Given the description of an element on the screen output the (x, y) to click on. 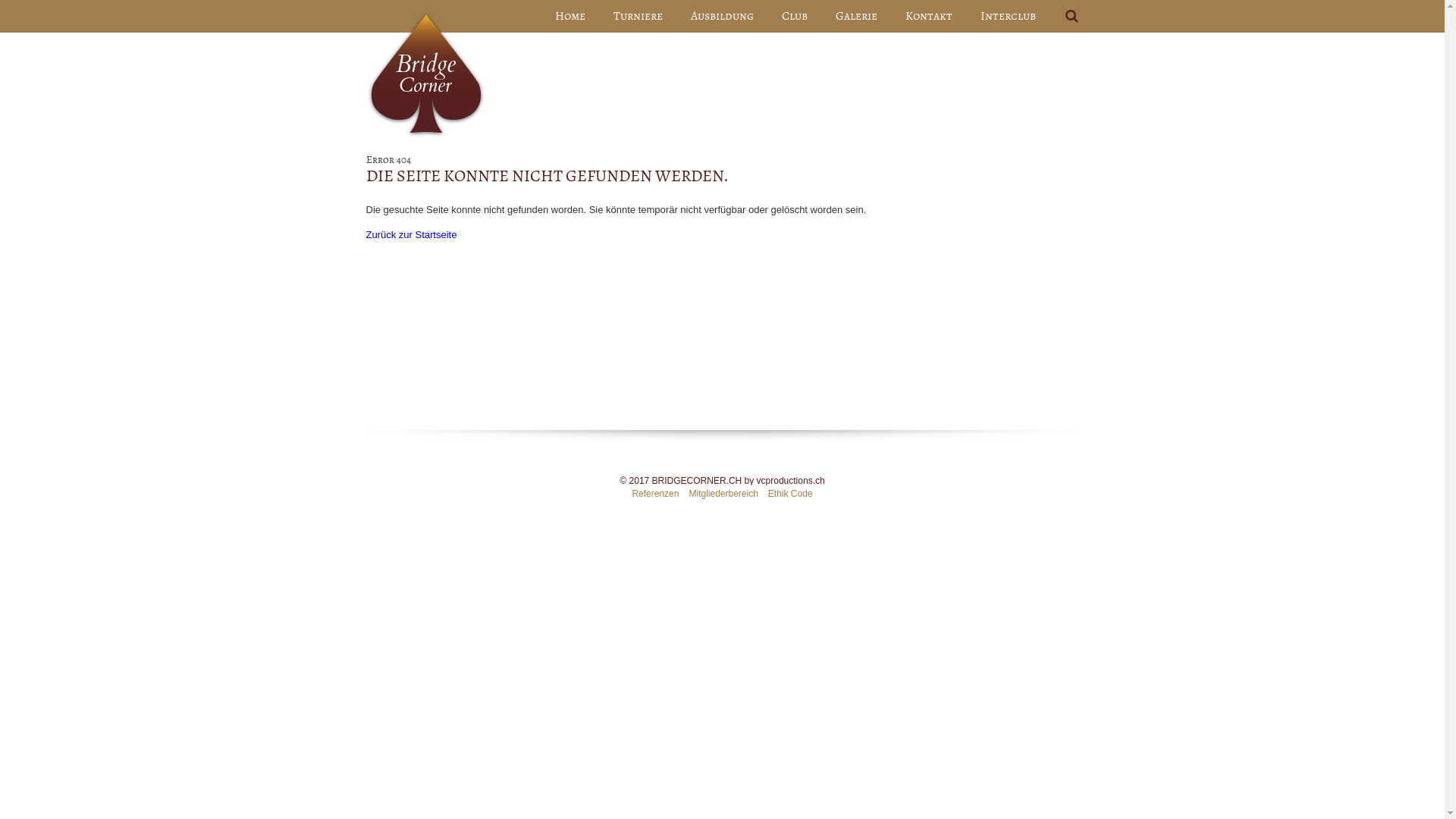
Club Element type: text (794, 16)
Ethik Code Element type: text (790, 493)
Interclub Element type: text (1008, 16)
Galerie Element type: text (855, 16)
vcproductions.ch Element type: text (790, 480)
Turniere Element type: text (638, 16)
Home Element type: text (569, 16)
Referenzen Element type: text (654, 493)
Ausbildung Element type: text (722, 16)
Kontakt Element type: text (928, 16)
Mitgliederbereich Element type: text (722, 493)
